Given the description of an element on the screen output the (x, y) to click on. 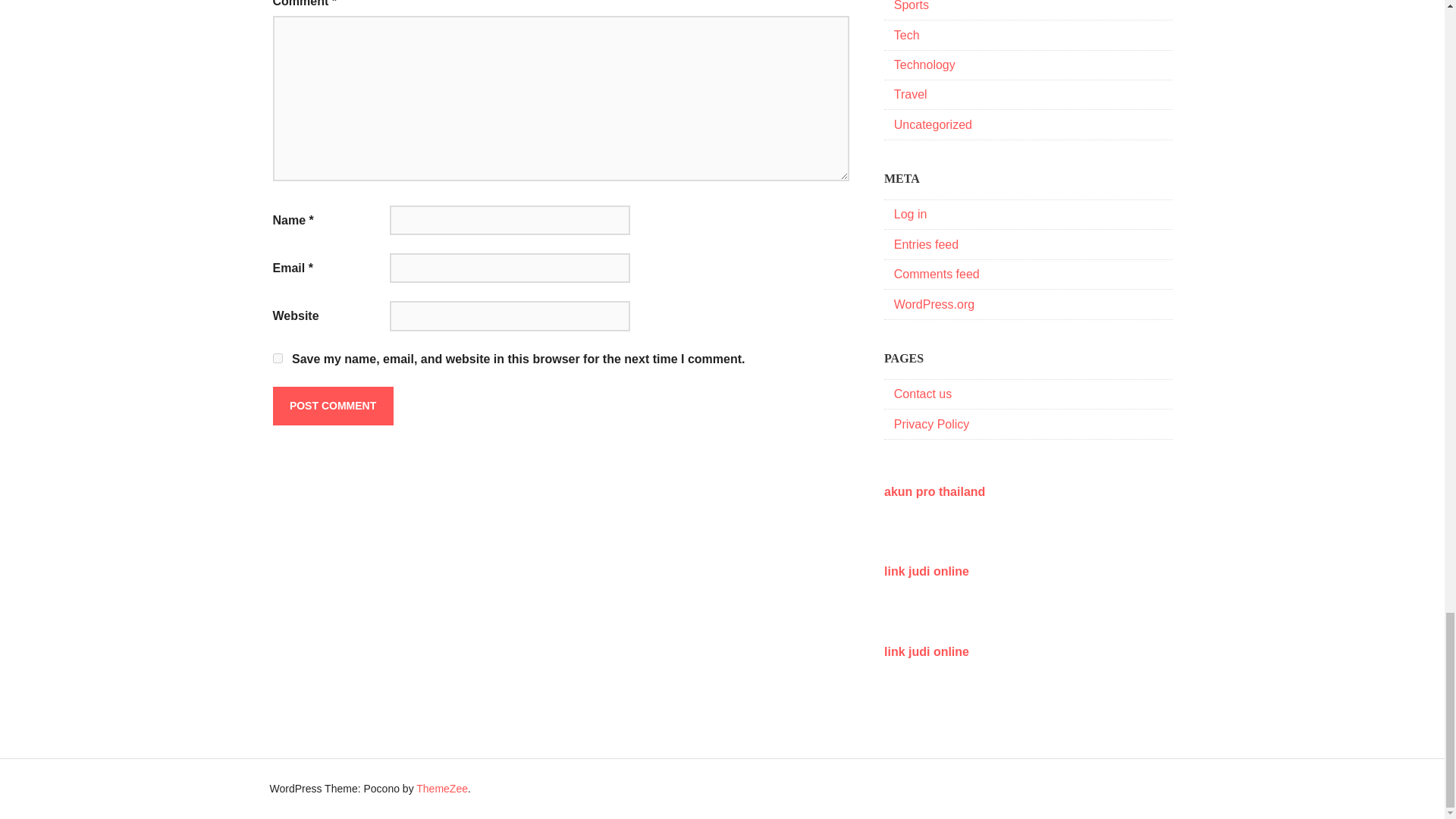
Post Comment (333, 405)
Post Comment (333, 405)
yes (277, 357)
